Given the description of an element on the screen output the (x, y) to click on. 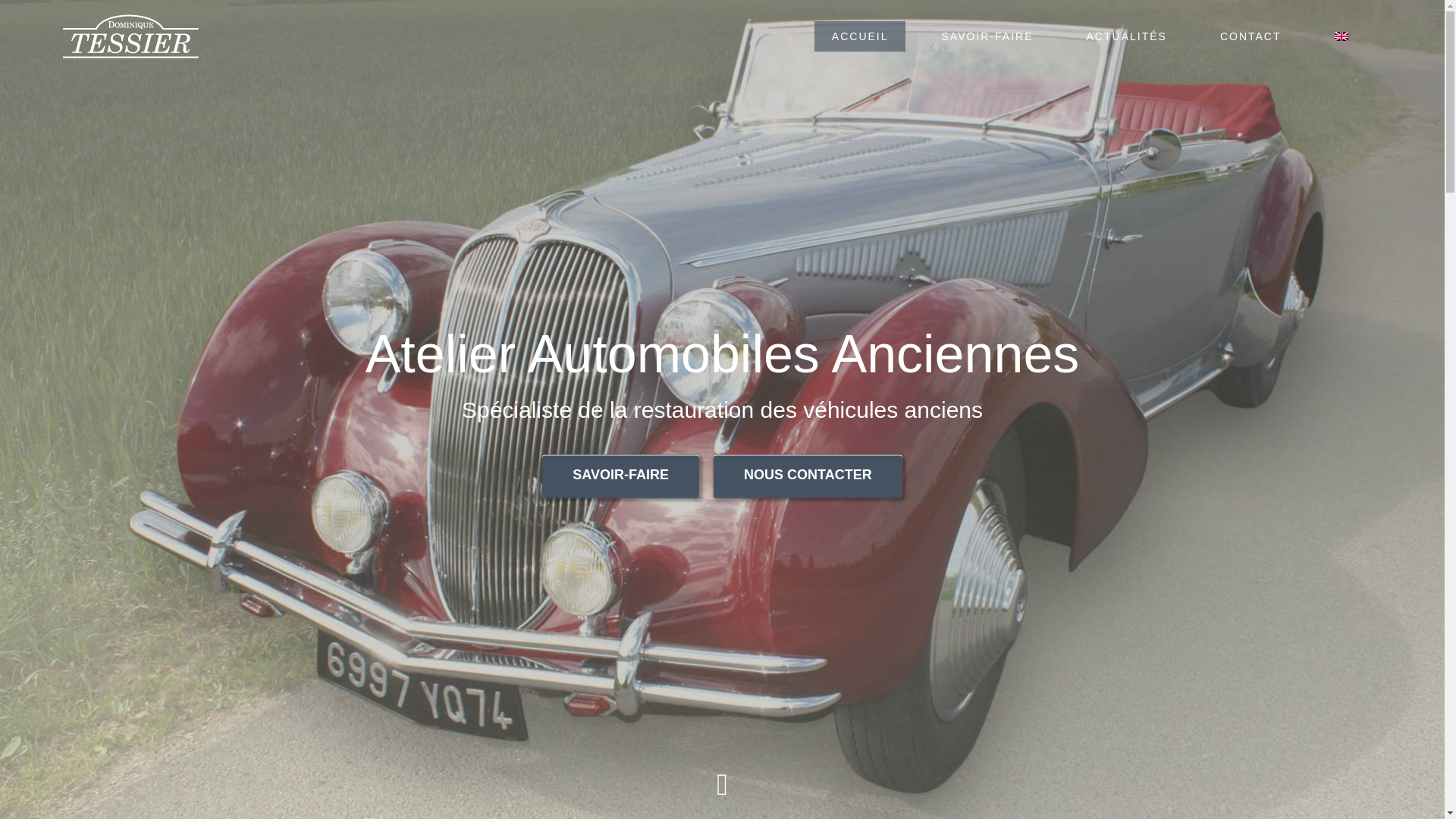
SAVOIR-FAIRE Element type: text (987, 36)
ACCUEIL Element type: text (859, 36)
SAVOIR-FAIRE Element type: text (620, 475)
NOUS CONTACTER Element type: text (807, 475)
CONTACT Element type: text (1250, 36)
